Given the description of an element on the screen output the (x, y) to click on. 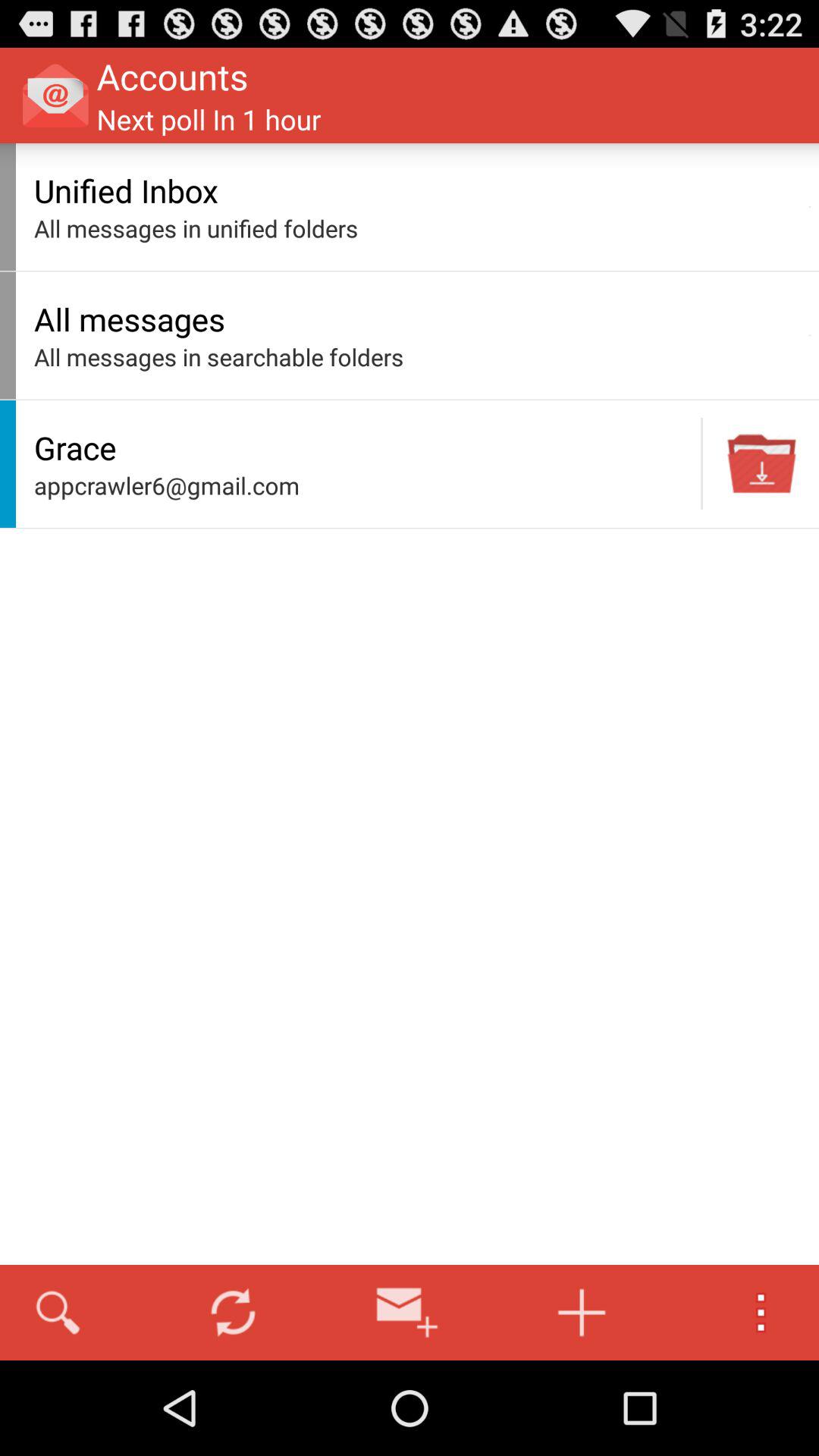
click the download icon on the web page (762, 463)
